Given the description of an element on the screen output the (x, y) to click on. 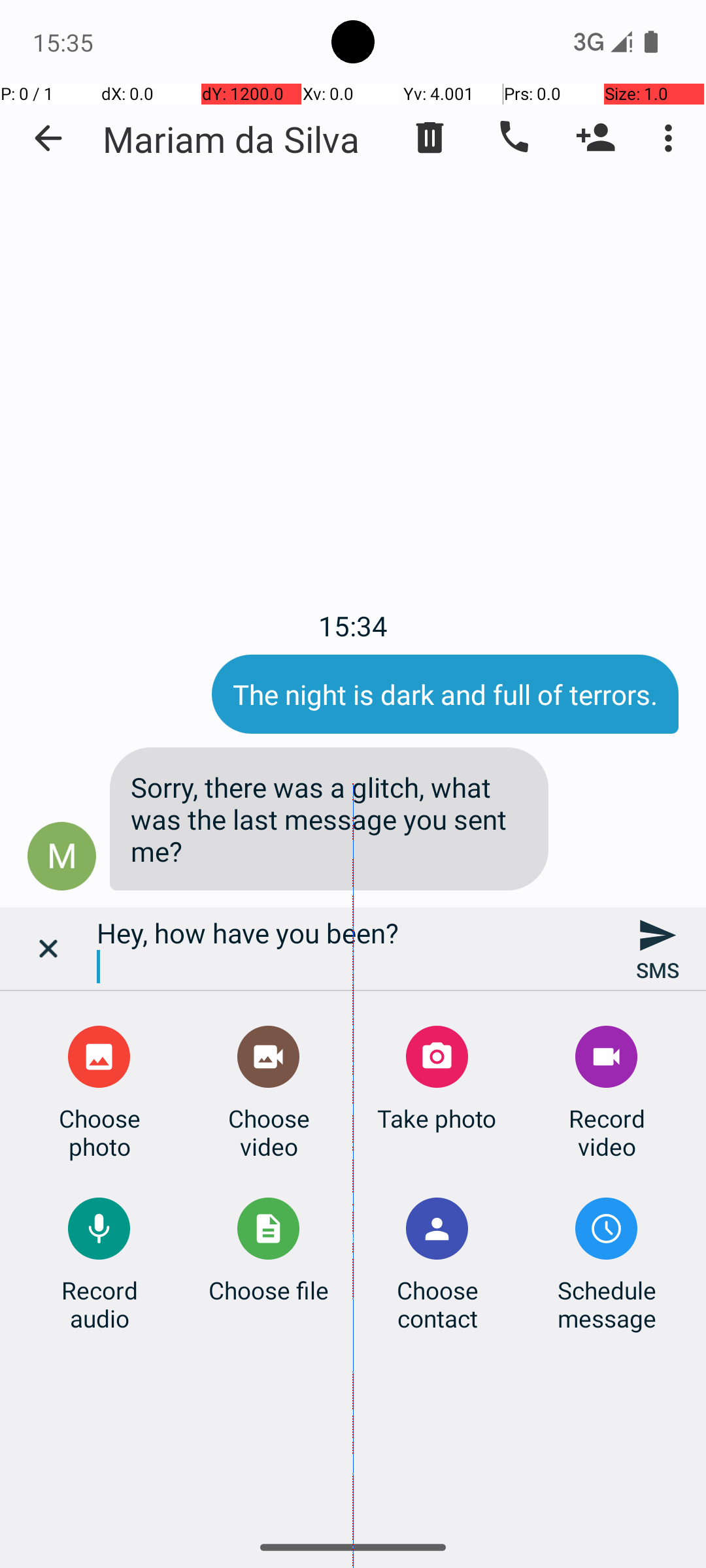
Mariam da Silva Element type: android.widget.TextView (230, 138)
Hey, how have you been?
 Element type: android.widget.EditText (352, 948)
The night is dark and full of terrors. Element type: android.widget.TextView (444, 693)
Sorry, there was a glitch, what was the last message you sent me? Element type: android.widget.TextView (328, 818)
Choose photo Element type: android.widget.TextView (98, 1131)
Choose video Element type: android.widget.TextView (268, 1131)
Take photo Element type: android.widget.TextView (436, 1117)
Record video Element type: android.widget.TextView (606, 1131)
Record audio Element type: android.widget.TextView (98, 1303)
Choose file Element type: android.widget.TextView (268, 1289)
Choose contact Element type: android.widget.TextView (436, 1303)
Schedule message Element type: android.widget.TextView (606, 1303)
